Given the description of an element on the screen output the (x, y) to click on. 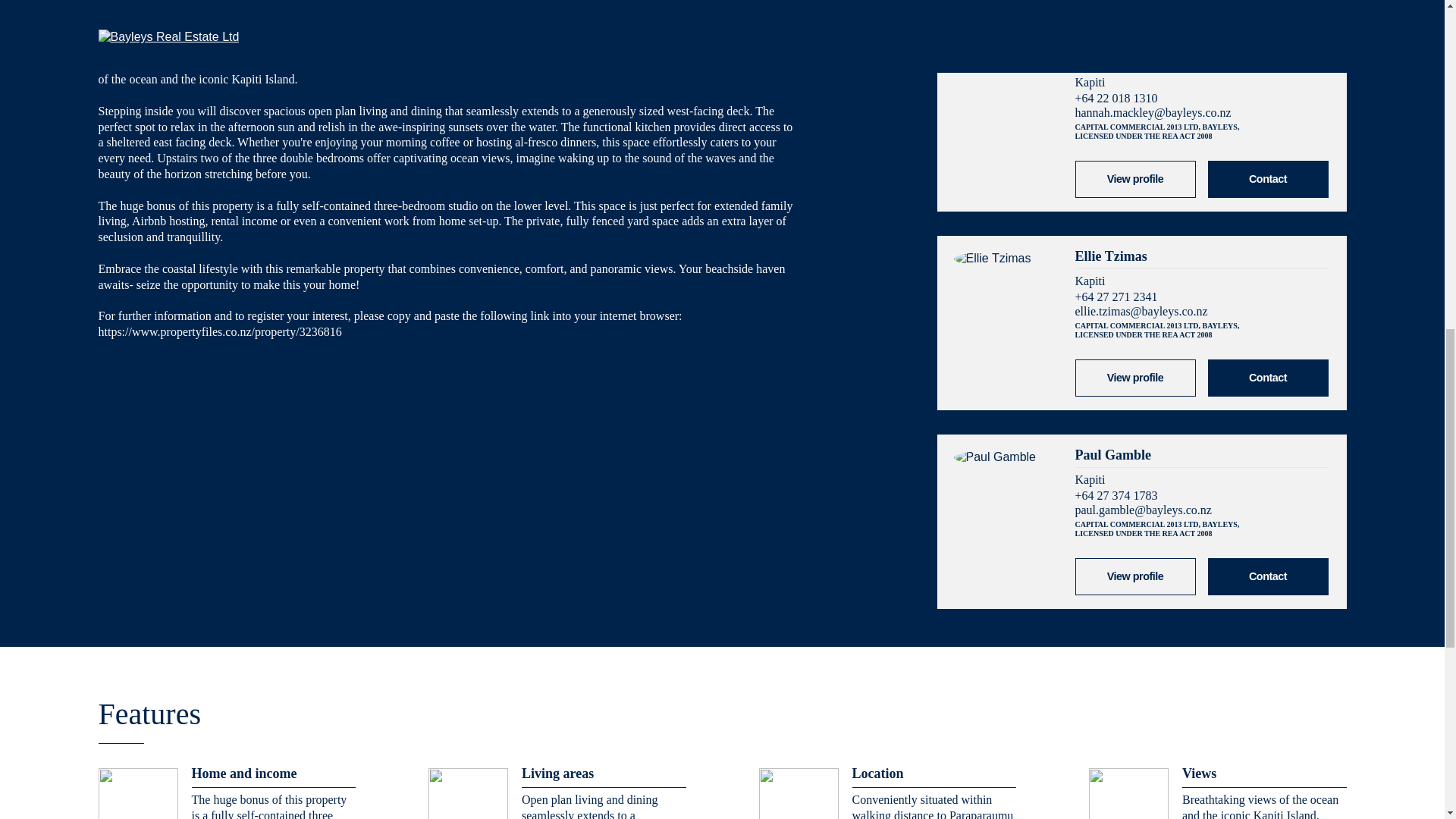
Contact (1267, 377)
Kapiti (1090, 479)
Kapiti (1090, 479)
Hannah Mackley (1135, 178)
View profile (1135, 179)
Ellie Tzimas (1135, 377)
View profile (1135, 576)
View profile (1135, 377)
View profile (1135, 377)
Contact (1267, 576)
